Given the description of an element on the screen output the (x, y) to click on. 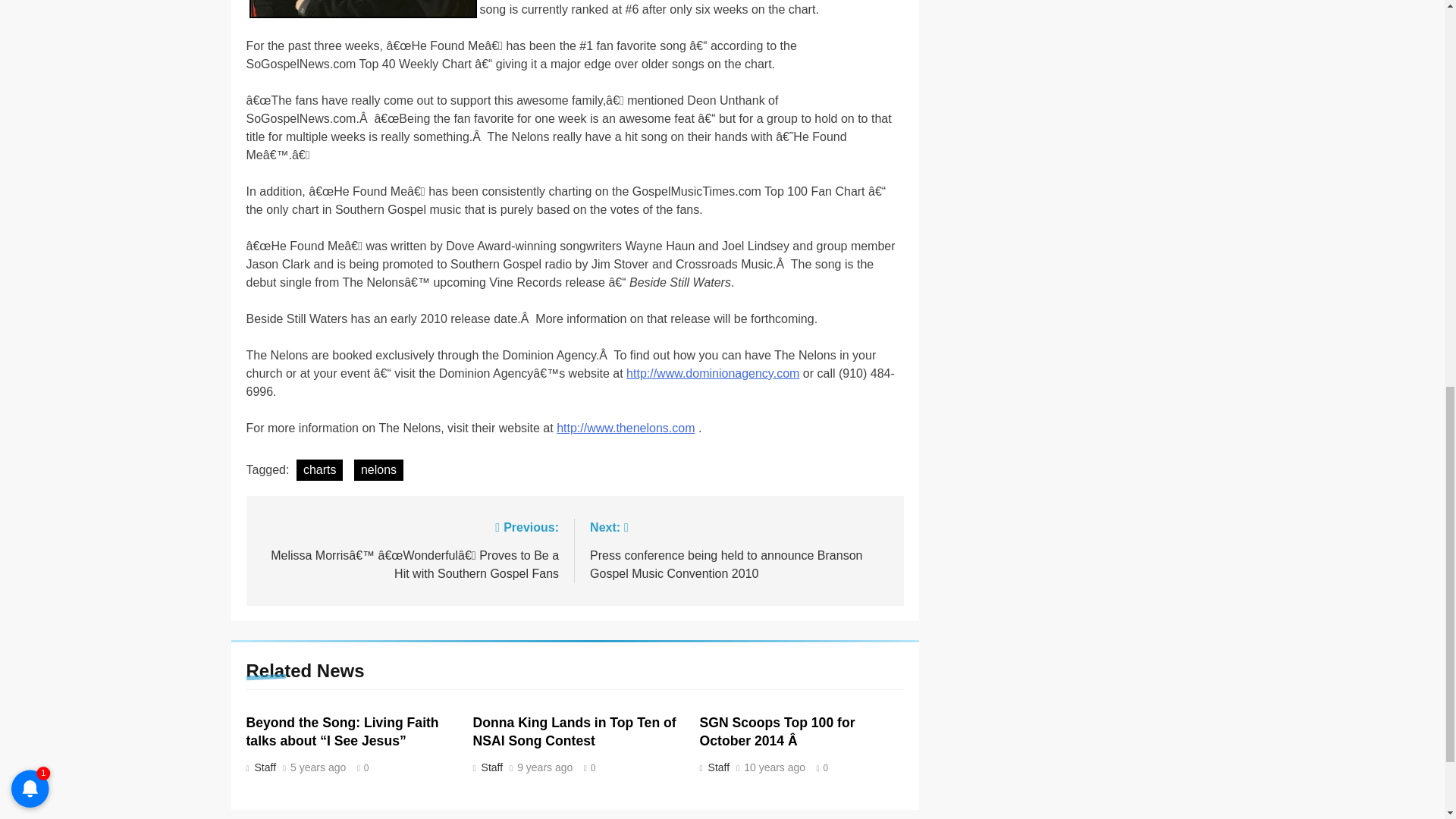
Staff (263, 767)
5 years ago (317, 767)
10 years ago (774, 767)
charts (320, 469)
Staff (490, 767)
Donna King Lands in Top Ten of NSAI Song Contest (575, 731)
nelons (362, 9)
9 years ago (544, 767)
Staff (717, 767)
nelons (378, 469)
